Given the description of an element on the screen output the (x, y) to click on. 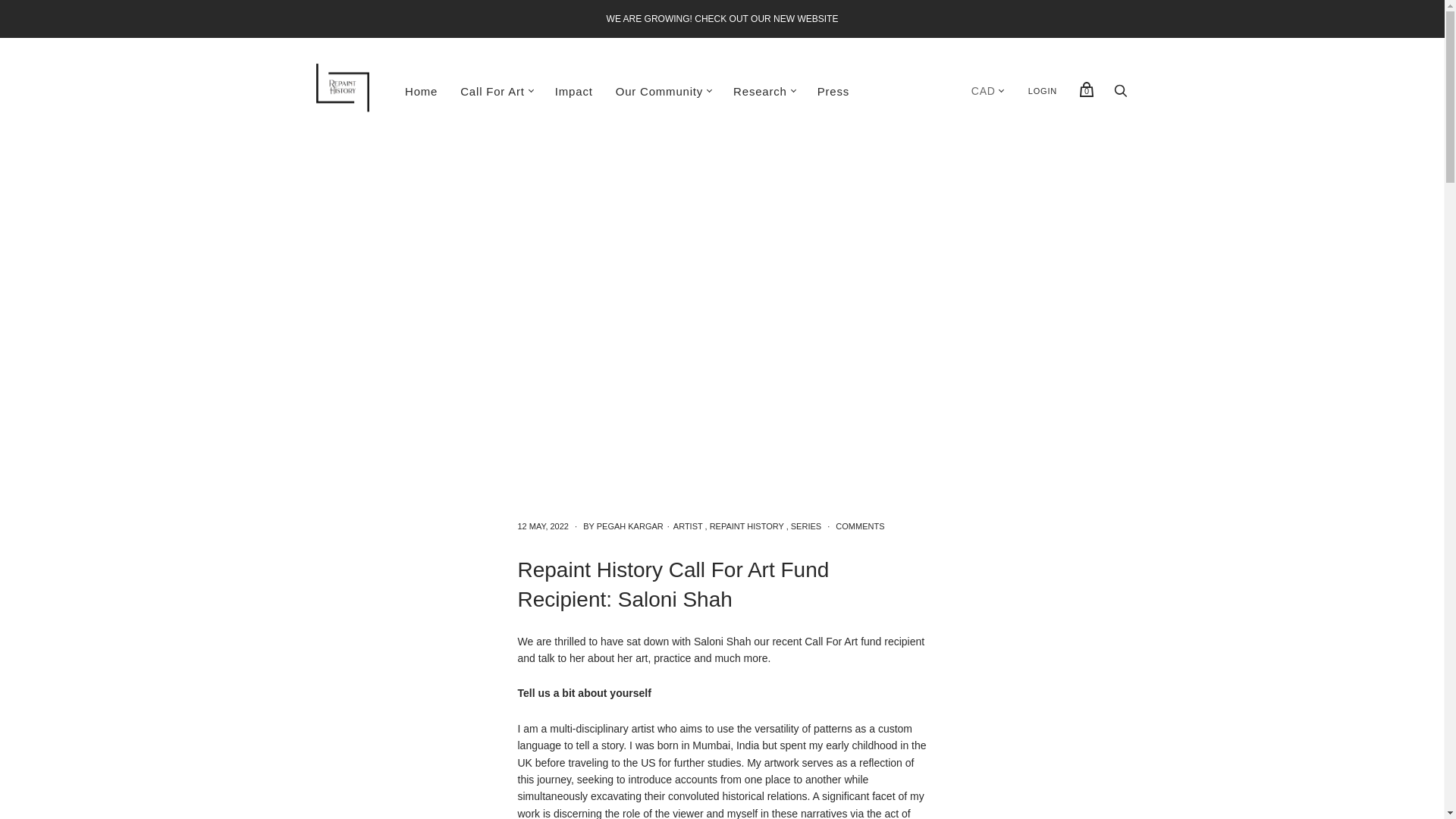
Press (833, 90)
Impact (573, 90)
Show articles tagged Repaint History (747, 525)
LOGIN (1042, 91)
Research (759, 90)
Show articles tagged Series (805, 525)
0 (1085, 89)
Show articles tagged Artist (687, 525)
Our Community (659, 90)
Home (420, 90)
